Given the description of an element on the screen output the (x, y) to click on. 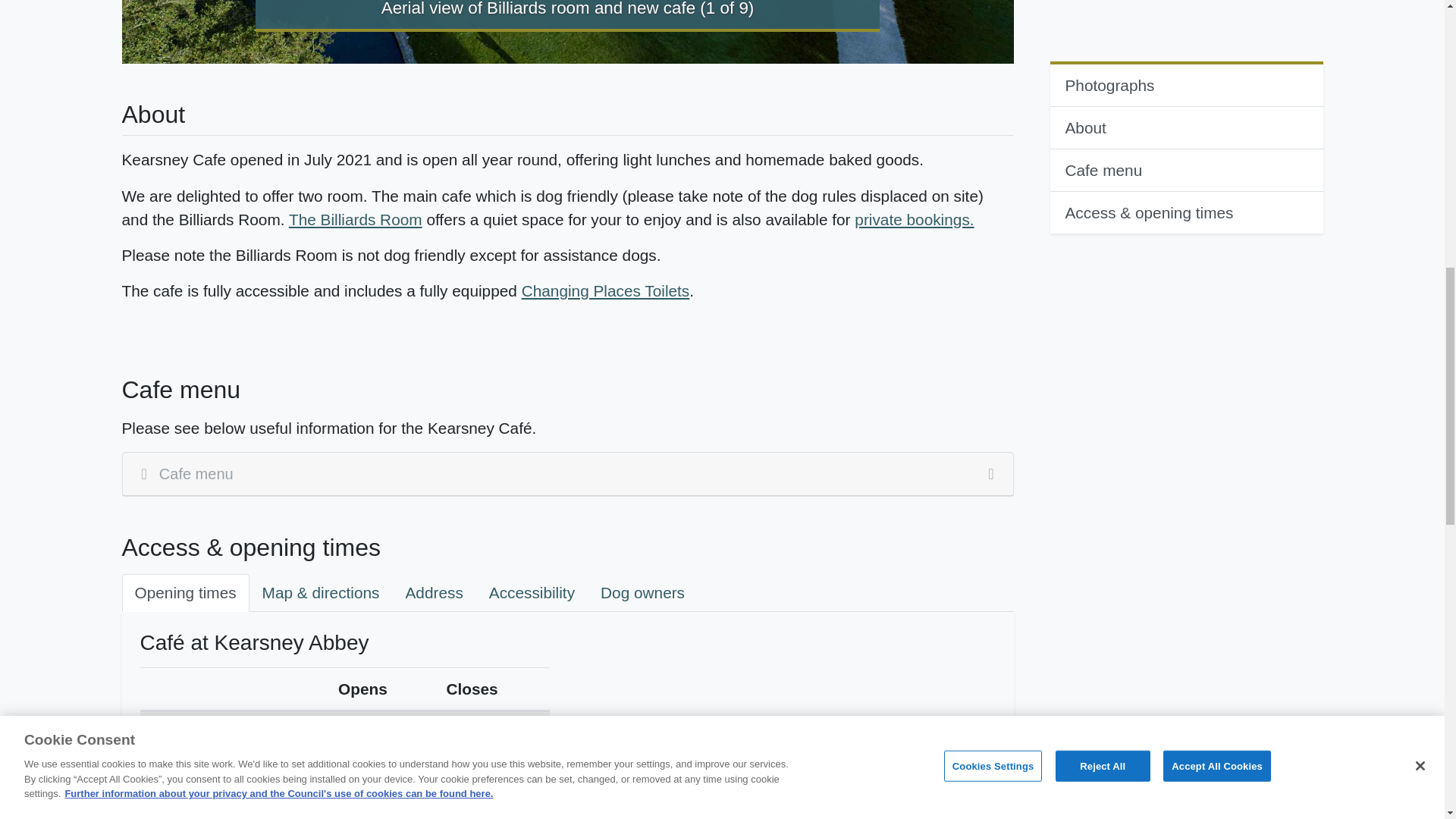
Next (946, 31)
Previous (187, 31)
Changing Places Toilets (605, 290)
Changing Places Toilets (605, 290)
Private Event Hire (914, 219)
The Billiards Room (355, 219)
The Billiards Room (355, 219)
private bookings. (914, 219)
